Given the description of an element on the screen output the (x, y) to click on. 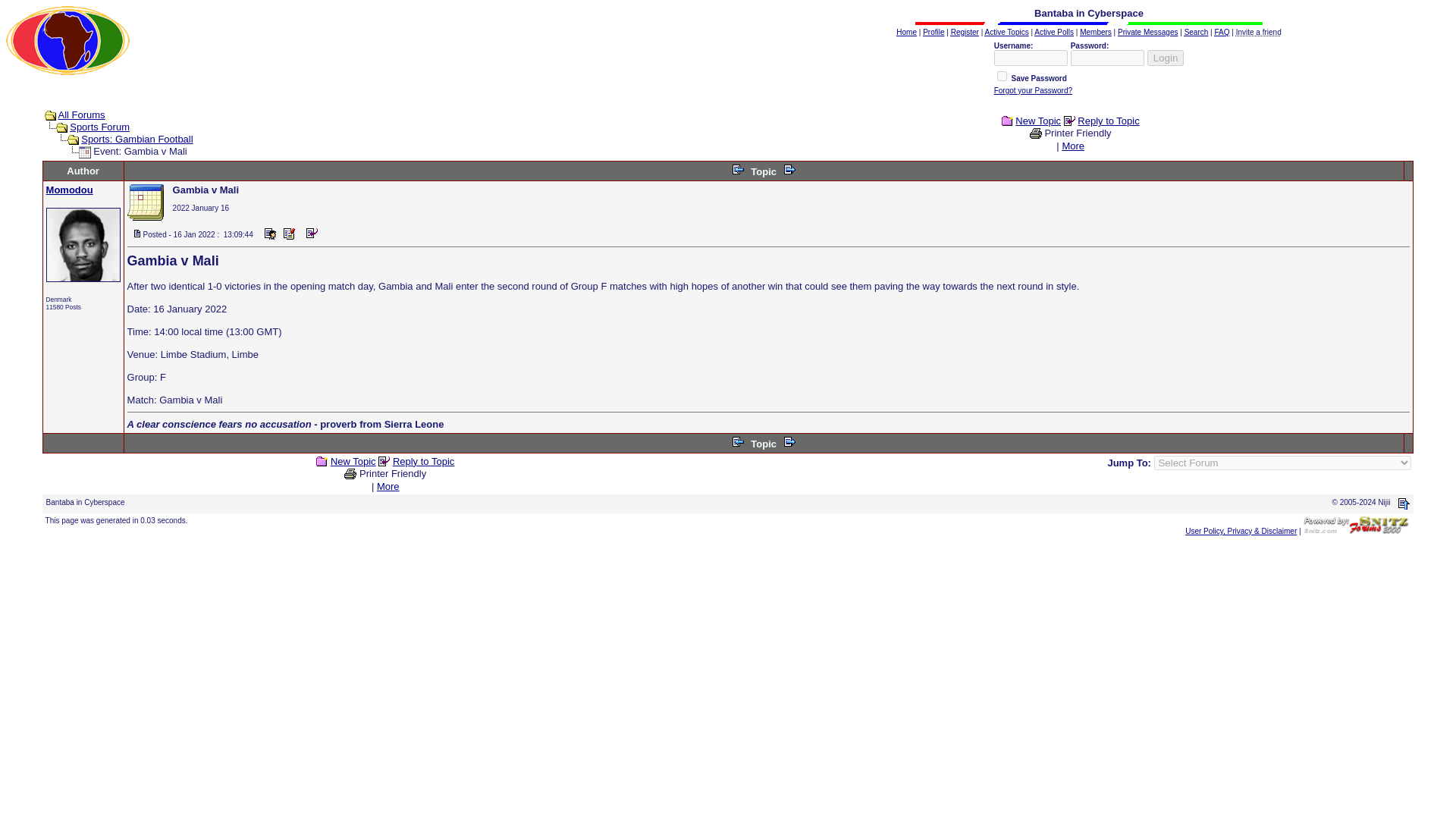
See what topics have been active since your last visit... (1007, 31)
See all the active polls... (1053, 31)
Current members of these forums... (1096, 31)
Edit your personal profile... (933, 31)
Printer Friendly (1076, 132)
Invite a friend (1258, 31)
New Topic (352, 460)
Private Messages (1147, 31)
true (1002, 76)
FAQ (1221, 31)
